Given the description of an element on the screen output the (x, y) to click on. 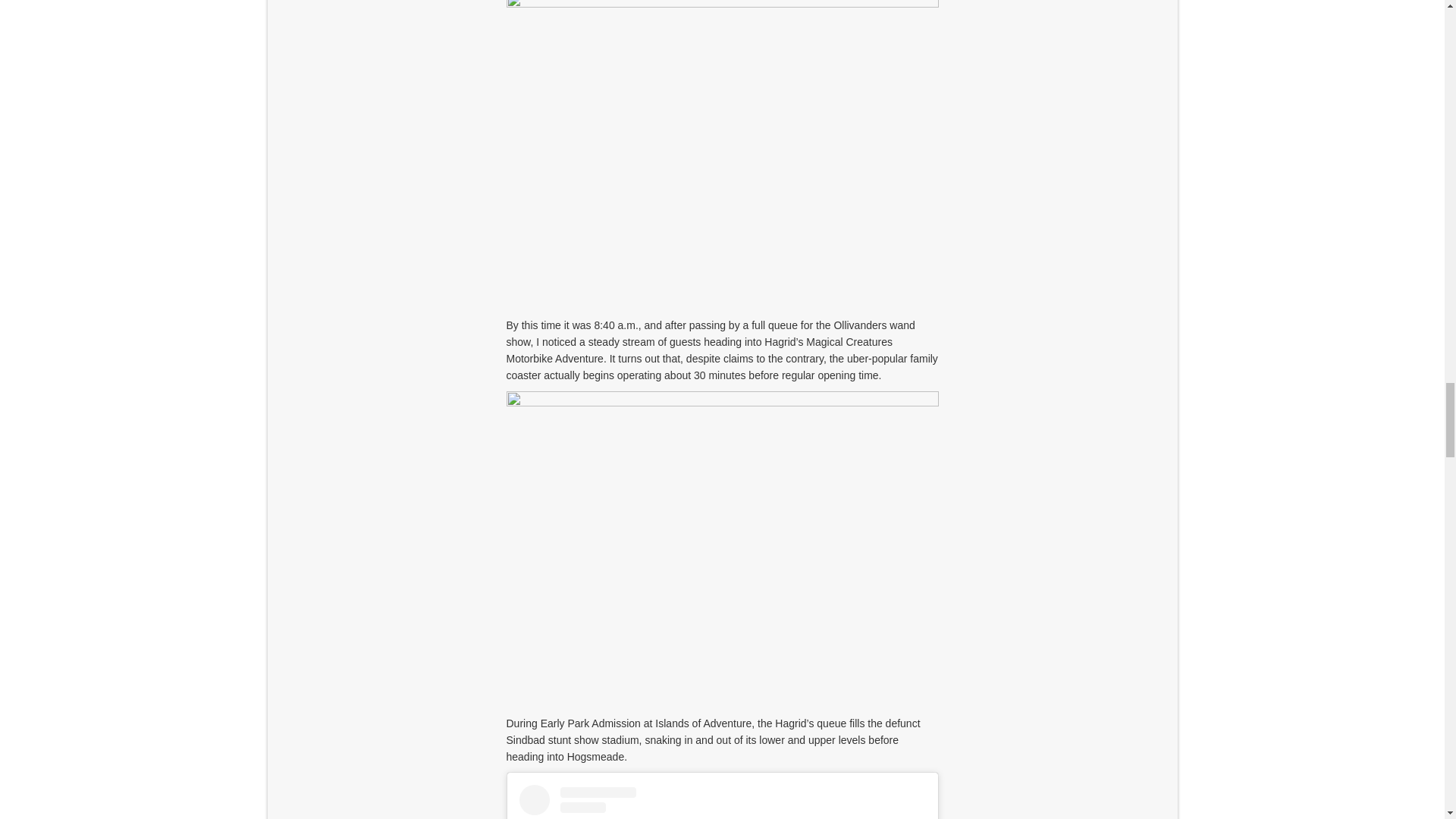
View this post on Instagram (721, 801)
